Given the description of an element on the screen output the (x, y) to click on. 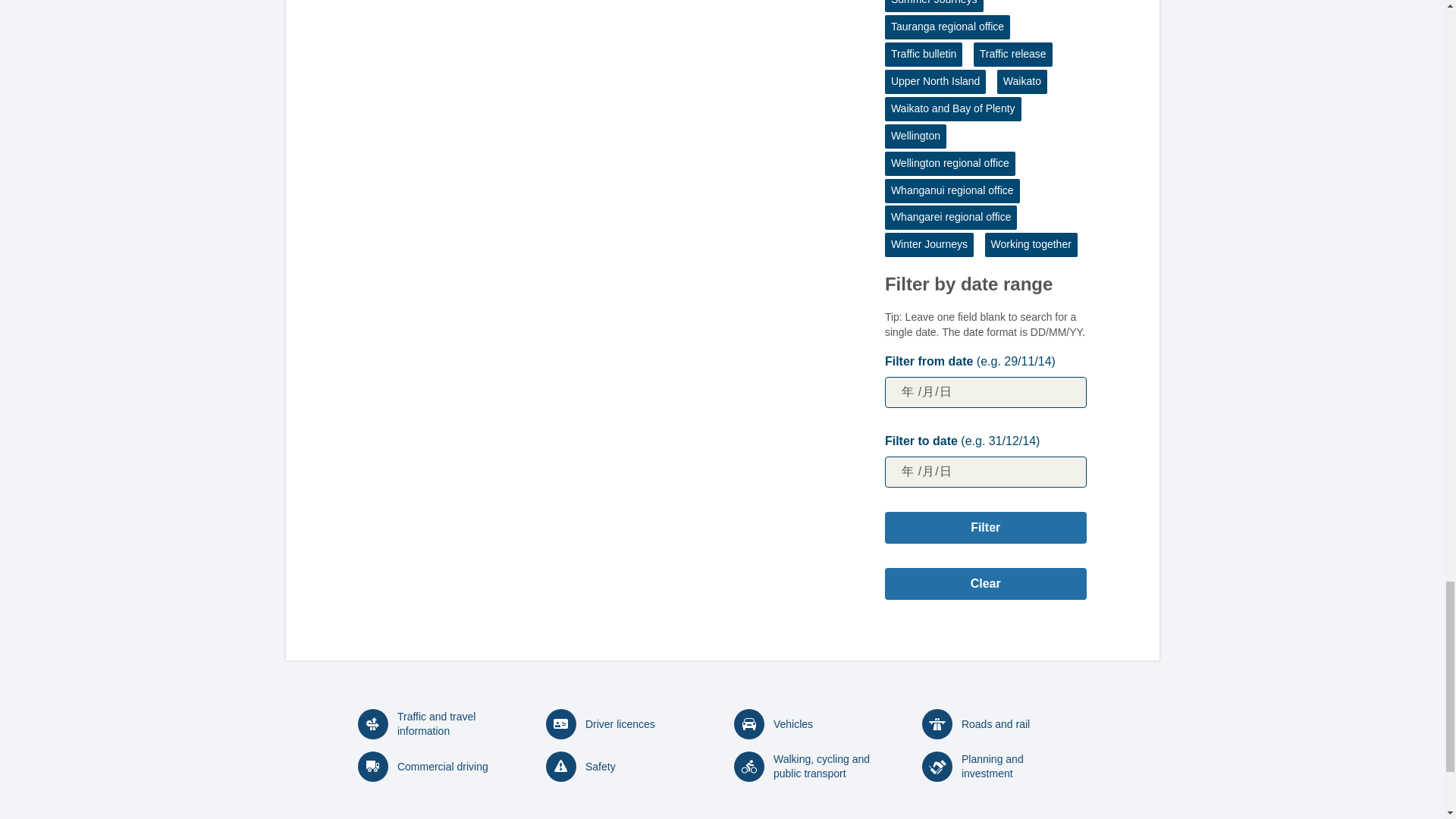
Filter (985, 527)
Clear (985, 583)
